Given the description of an element on the screen output the (x, y) to click on. 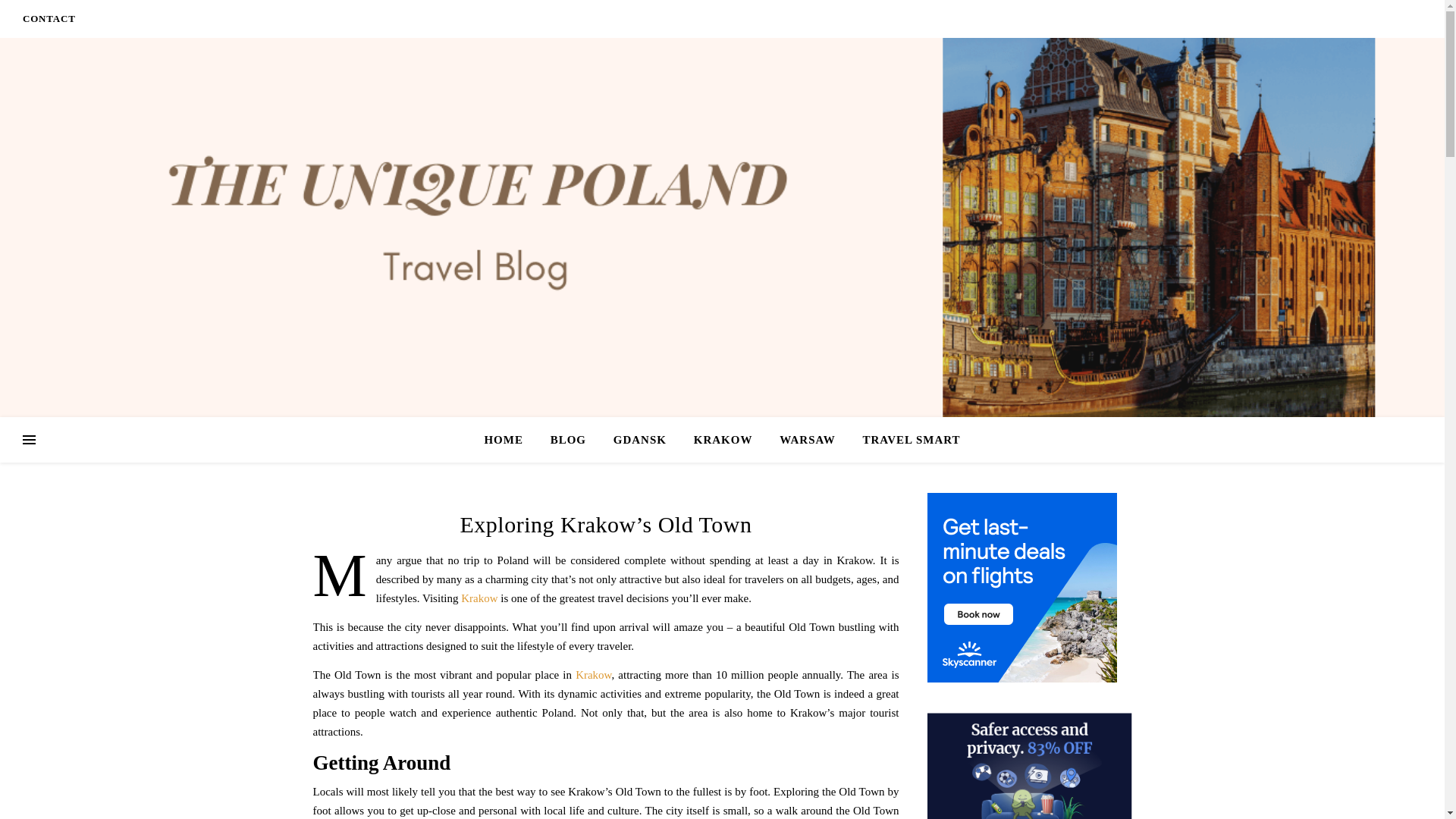
GDANSK (639, 439)
Krakow (479, 598)
KRAKOW (723, 439)
BLOG (568, 439)
HOME (509, 439)
Krakow (593, 674)
TRAVEL SMART (904, 439)
CONTACT (49, 18)
WARSAW (807, 439)
